Given the description of an element on the screen output the (x, y) to click on. 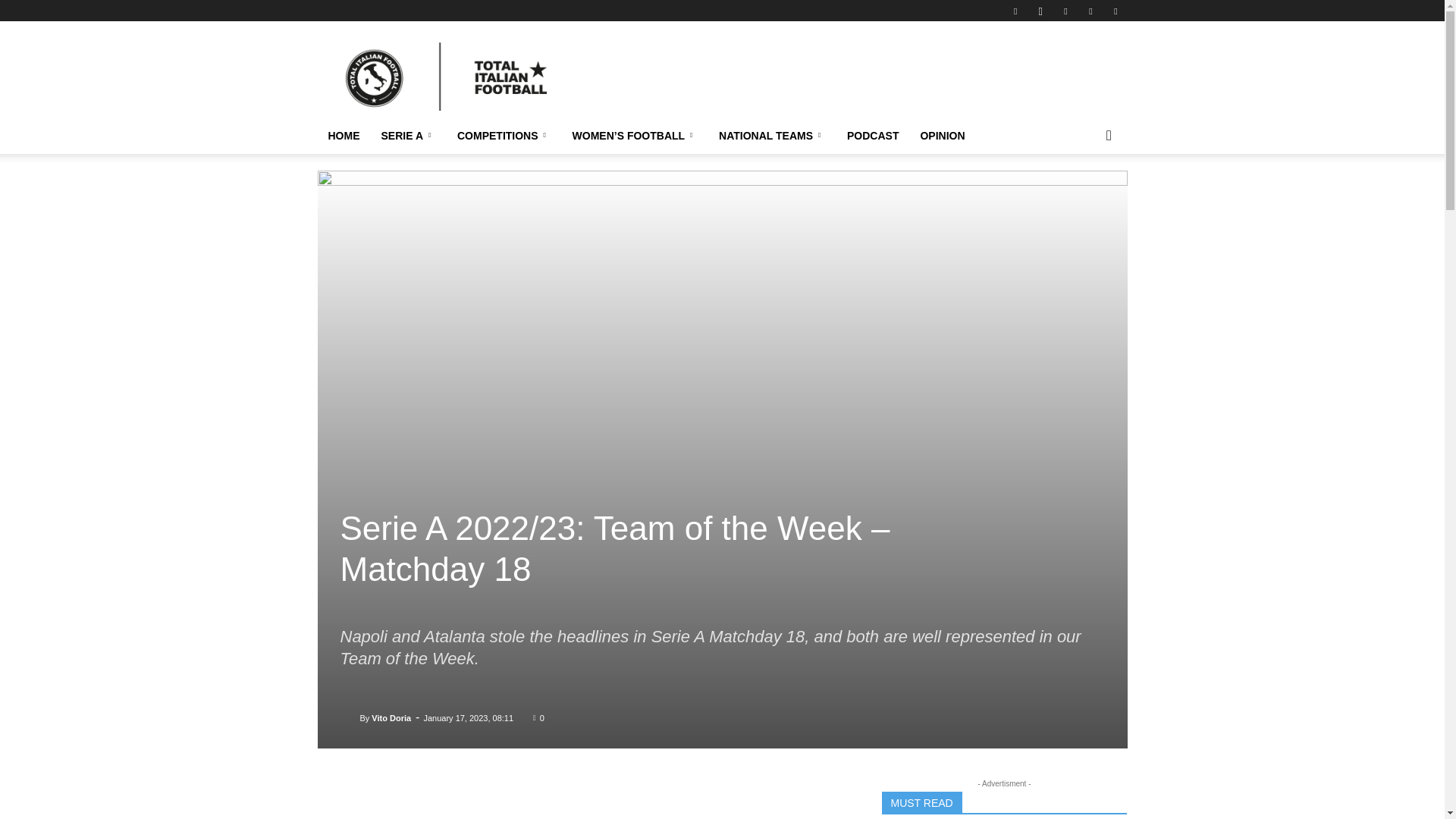
TikTok (1090, 10)
Mail (1065, 10)
Twitter (1114, 10)
Facebook (1015, 10)
Vito Doria (349, 717)
Instagram (1040, 10)
